Given the description of an element on the screen output the (x, y) to click on. 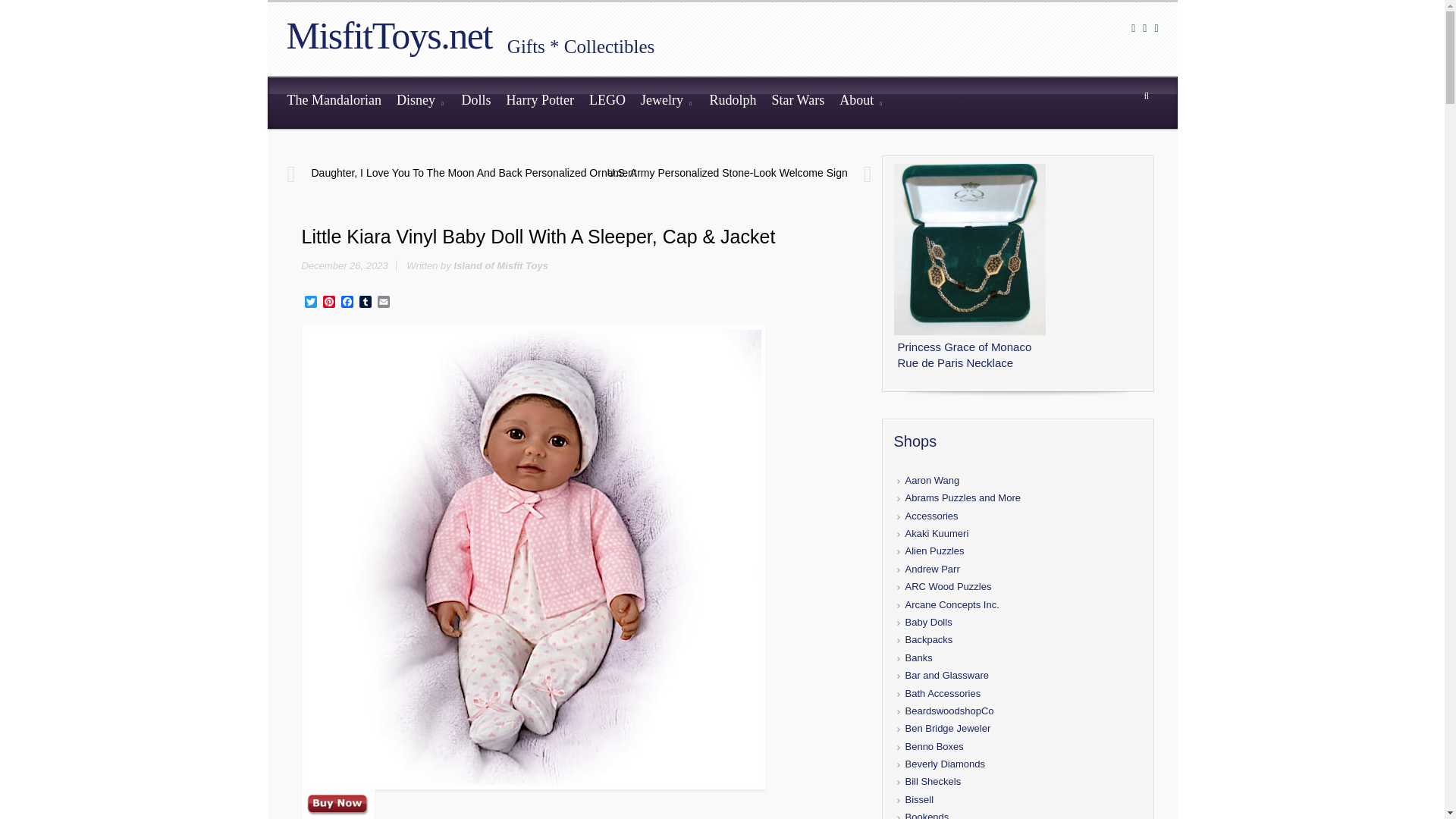
About (861, 101)
The Mandalorian (333, 101)
Jewelry (667, 101)
Jewelry (667, 101)
Rudolph (731, 101)
Star Wars (796, 101)
LEGO (606, 101)
Star Wars (796, 101)
MisfitToys.net (389, 35)
LEGO (606, 101)
Disney (421, 101)
Disney (421, 101)
Rudolph (731, 101)
Harry Potter (538, 101)
About (861, 101)
